Given the description of an element on the screen output the (x, y) to click on. 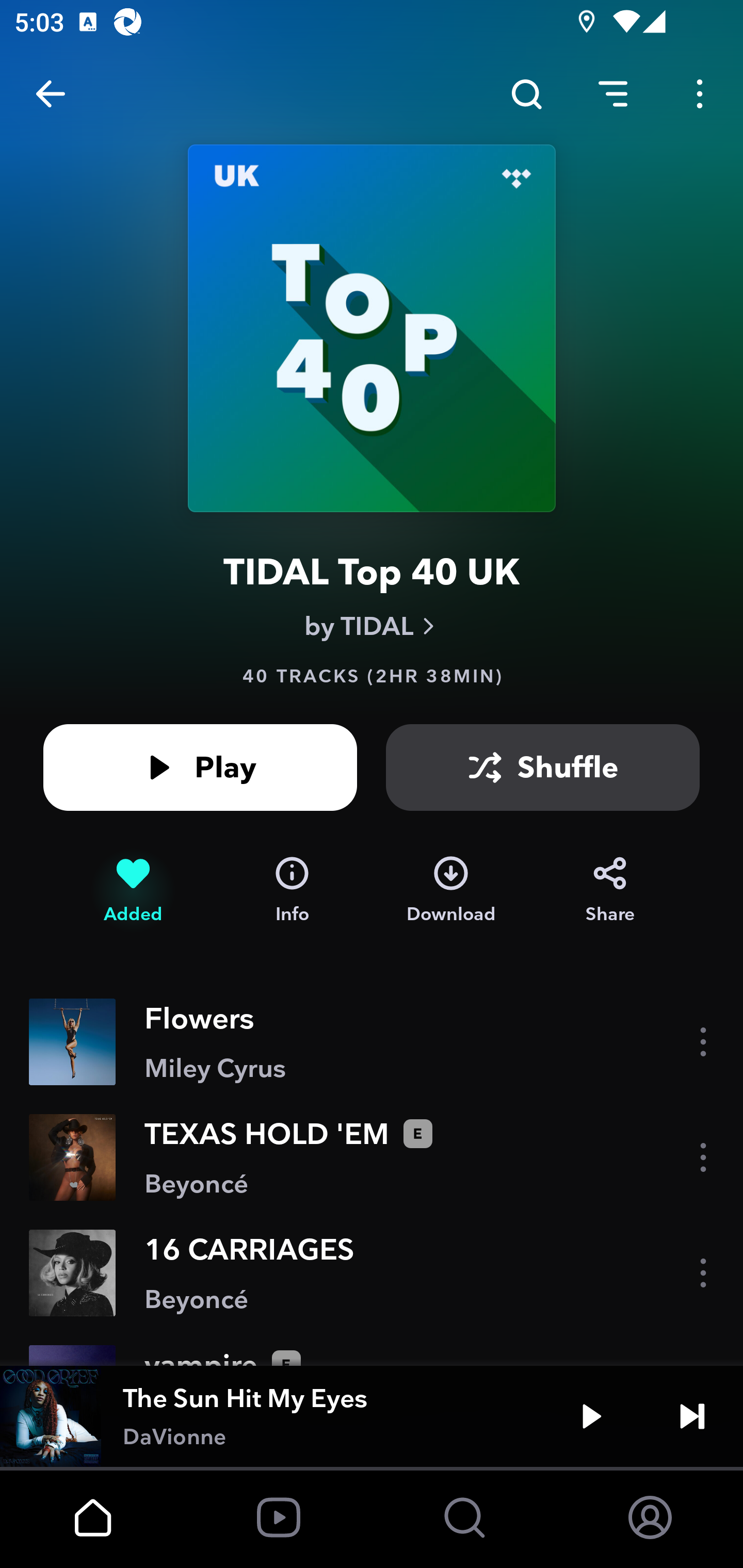
Back (50, 93)
Search (525, 93)
Sorting (612, 93)
Options (699, 93)
by TIDAL (371, 625)
Play (200, 767)
Shuffle (542, 767)
Added (132, 890)
Info (291, 890)
Download (450, 890)
Share (609, 890)
Flowers Miley Cyrus (371, 1041)
TEXAS HOLD 'EM Beyoncé (371, 1157)
16 CARRIAGES Beyoncé (371, 1273)
The Sun Hit My Eyes DaVionne Play (371, 1416)
Play (590, 1416)
